Given the description of an element on the screen output the (x, y) to click on. 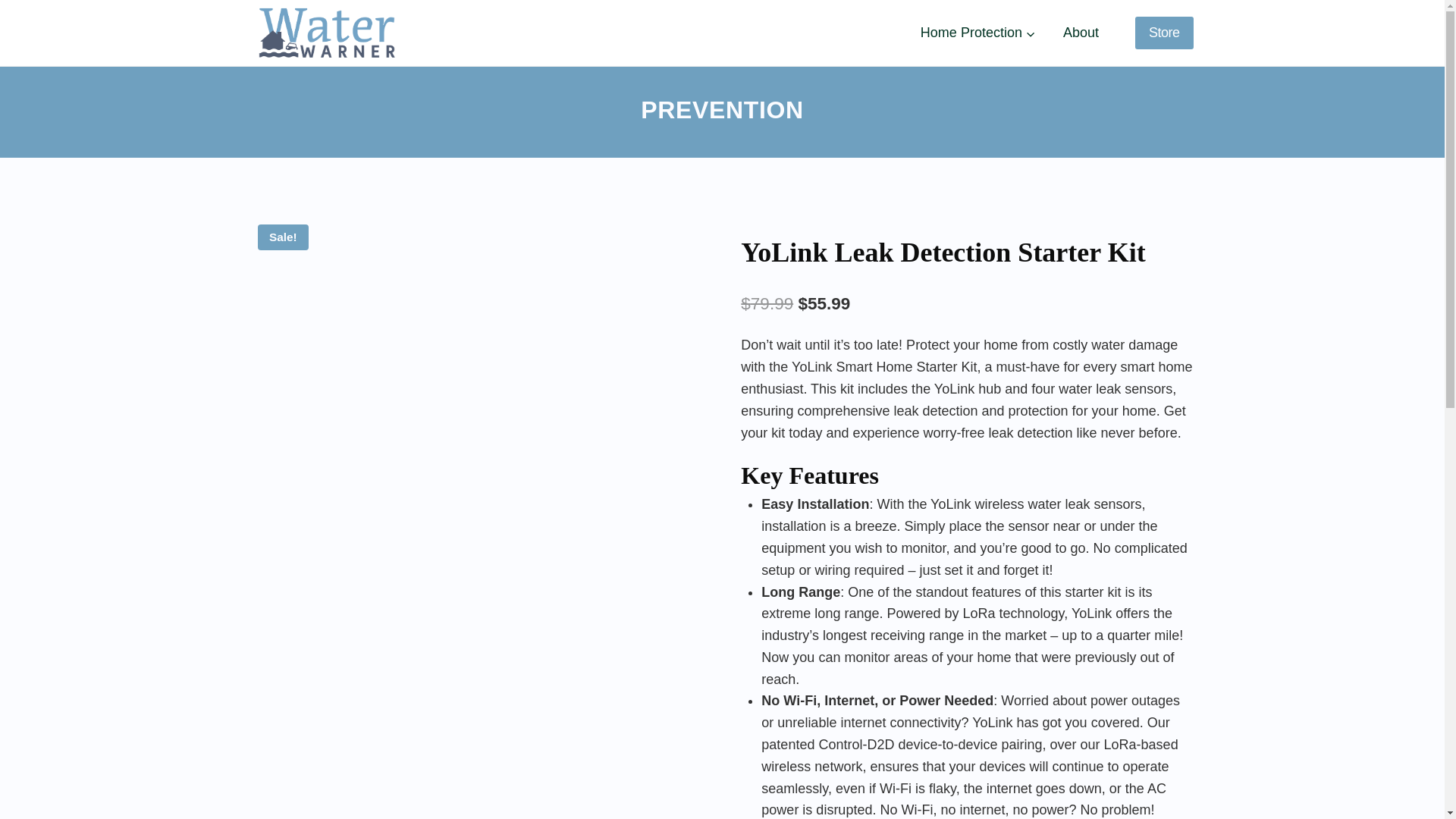
About (1080, 32)
Home Protection (978, 32)
PREVENTION (721, 109)
Store (1164, 32)
